Given the description of an element on the screen output the (x, y) to click on. 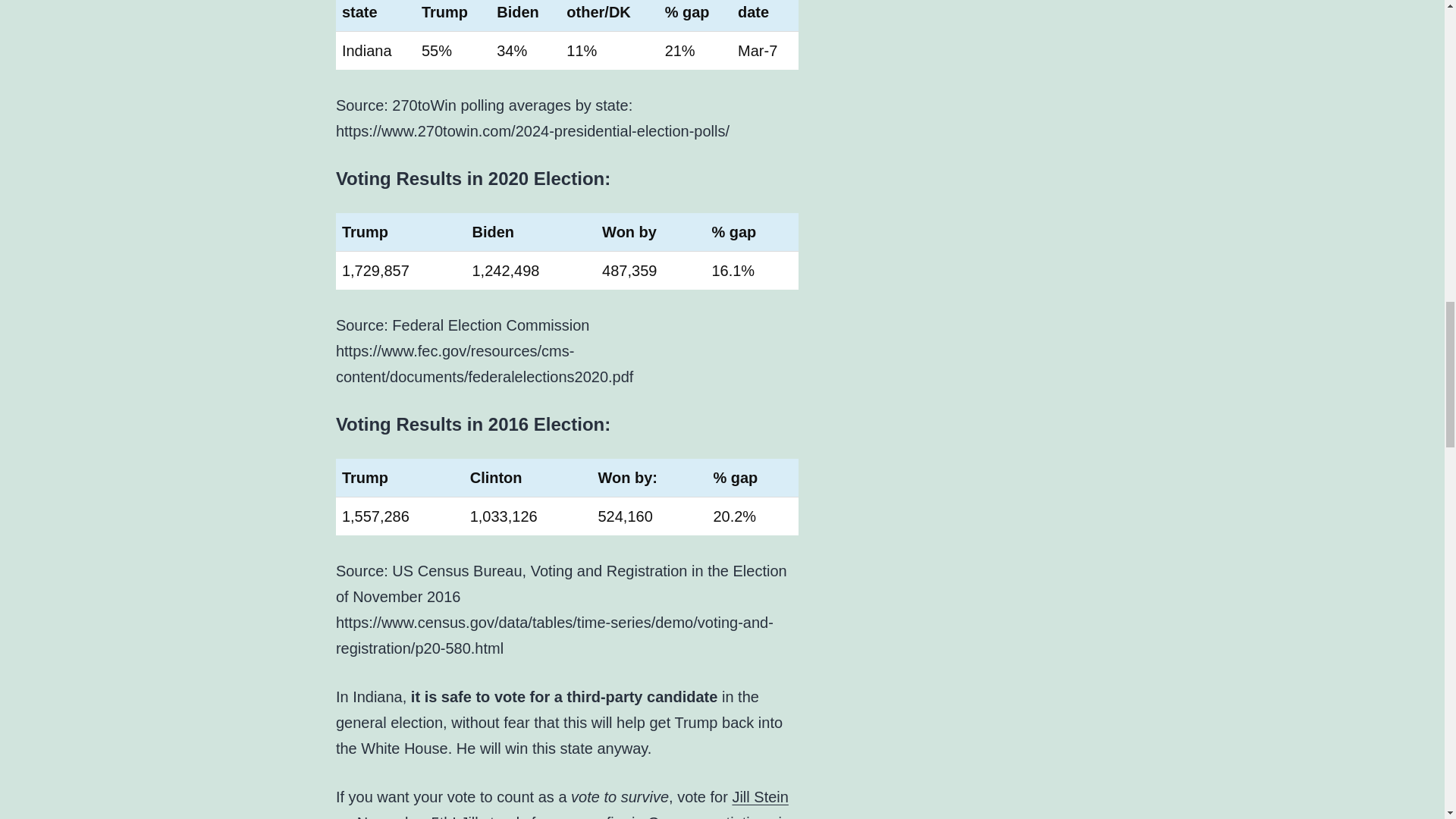
Jill Stein (759, 796)
